Given the description of an element on the screen output the (x, y) to click on. 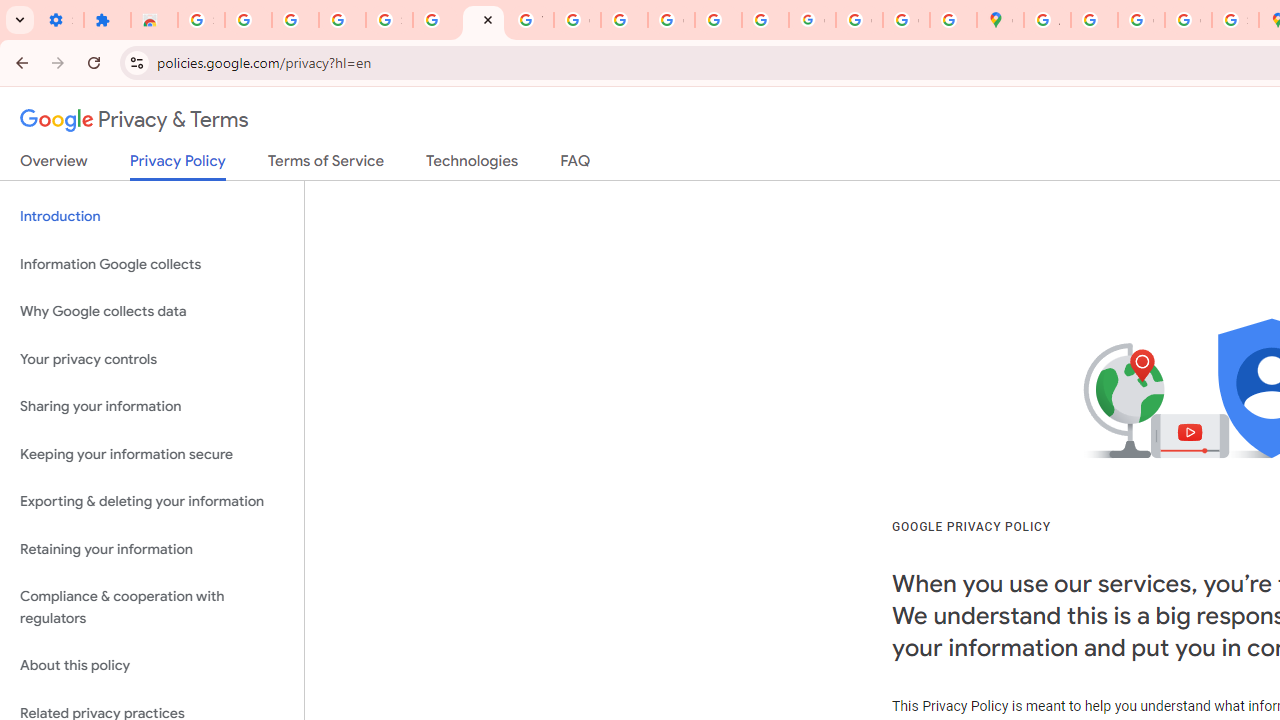
Information Google collects (152, 263)
Why Google collects data (152, 312)
Keeping your information secure (152, 453)
Sharing your information (152, 407)
Reviews: Helix Fruit Jump Arcade Game (153, 20)
